Given the description of an element on the screen output the (x, y) to click on. 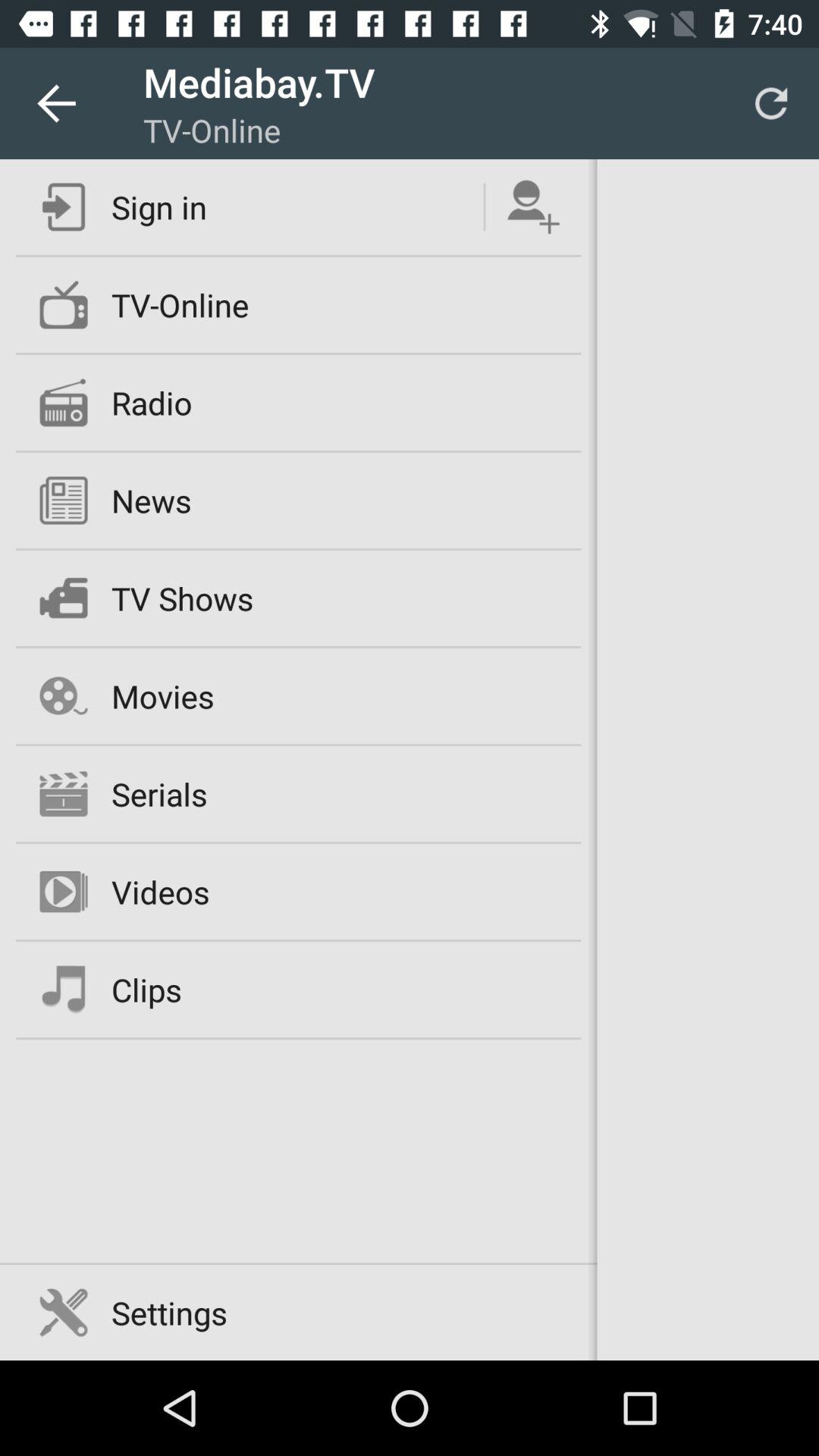
open settings (169, 1312)
